Given the description of an element on the screen output the (x, y) to click on. 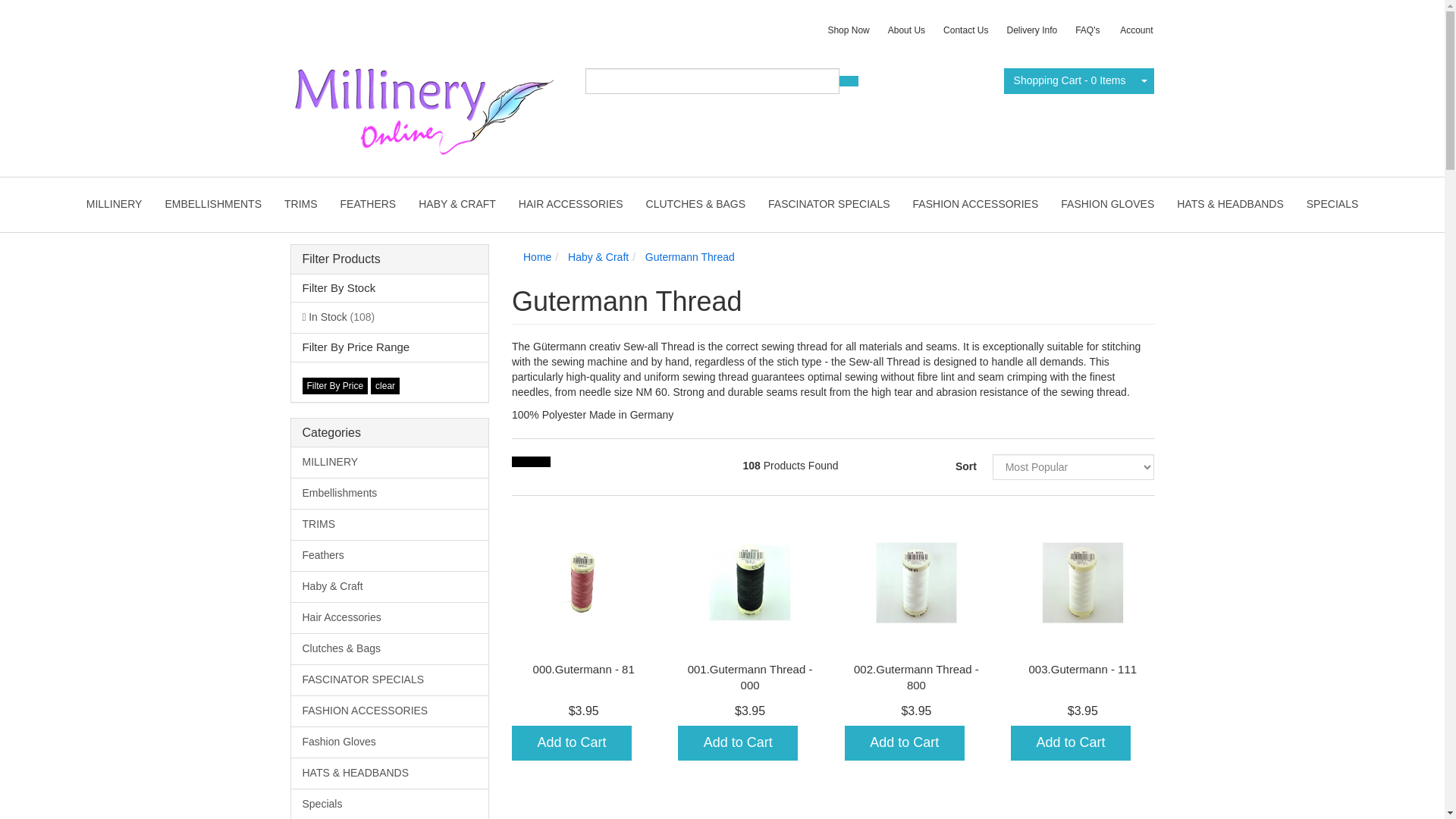
 Account (1134, 30)
About Us (906, 30)
Search (848, 81)
Contact Us (965, 30)
001.Gutermann Thread - 000 (749, 676)
Millinery Online (421, 105)
Add to Cart (903, 742)
EMBELLISHMENTS (212, 204)
Add to Cart (1070, 742)
002.Gutermann Thread - 800 (915, 676)
FAQ's (1086, 30)
Filter By Price (334, 385)
Delivery Info (1031, 30)
003.Gutermann - 111 (1083, 668)
000.Gutermann - 81 (583, 668)
